Given the description of an element on the screen output the (x, y) to click on. 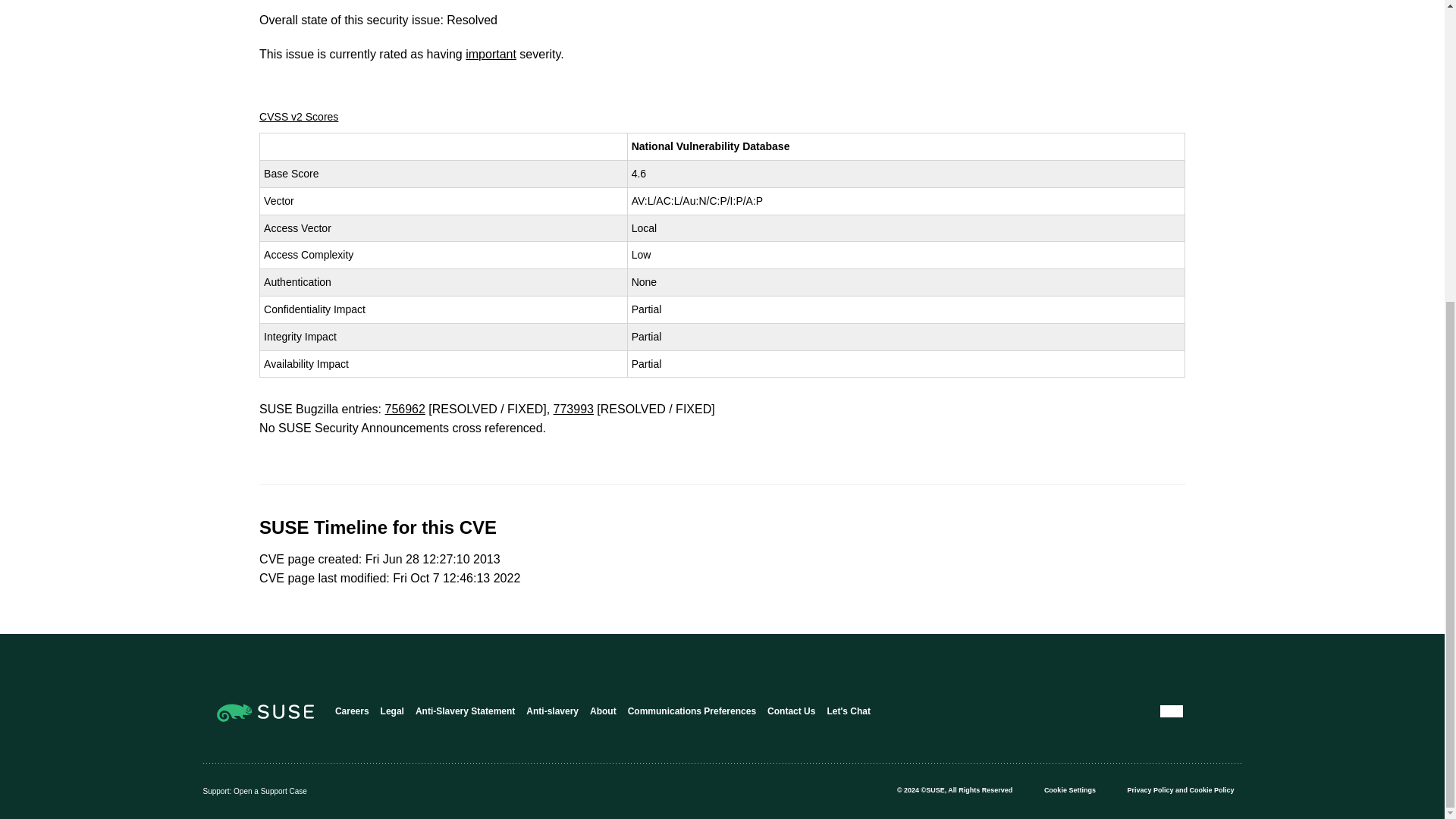
About (602, 710)
Communications Preferences (691, 710)
Anti-slavery (551, 710)
Anti-Slavery Statement (464, 710)
Careers (351, 710)
Legal (392, 710)
Let's Chat (848, 710)
Contact Us (791, 710)
